Given the description of an element on the screen output the (x, y) to click on. 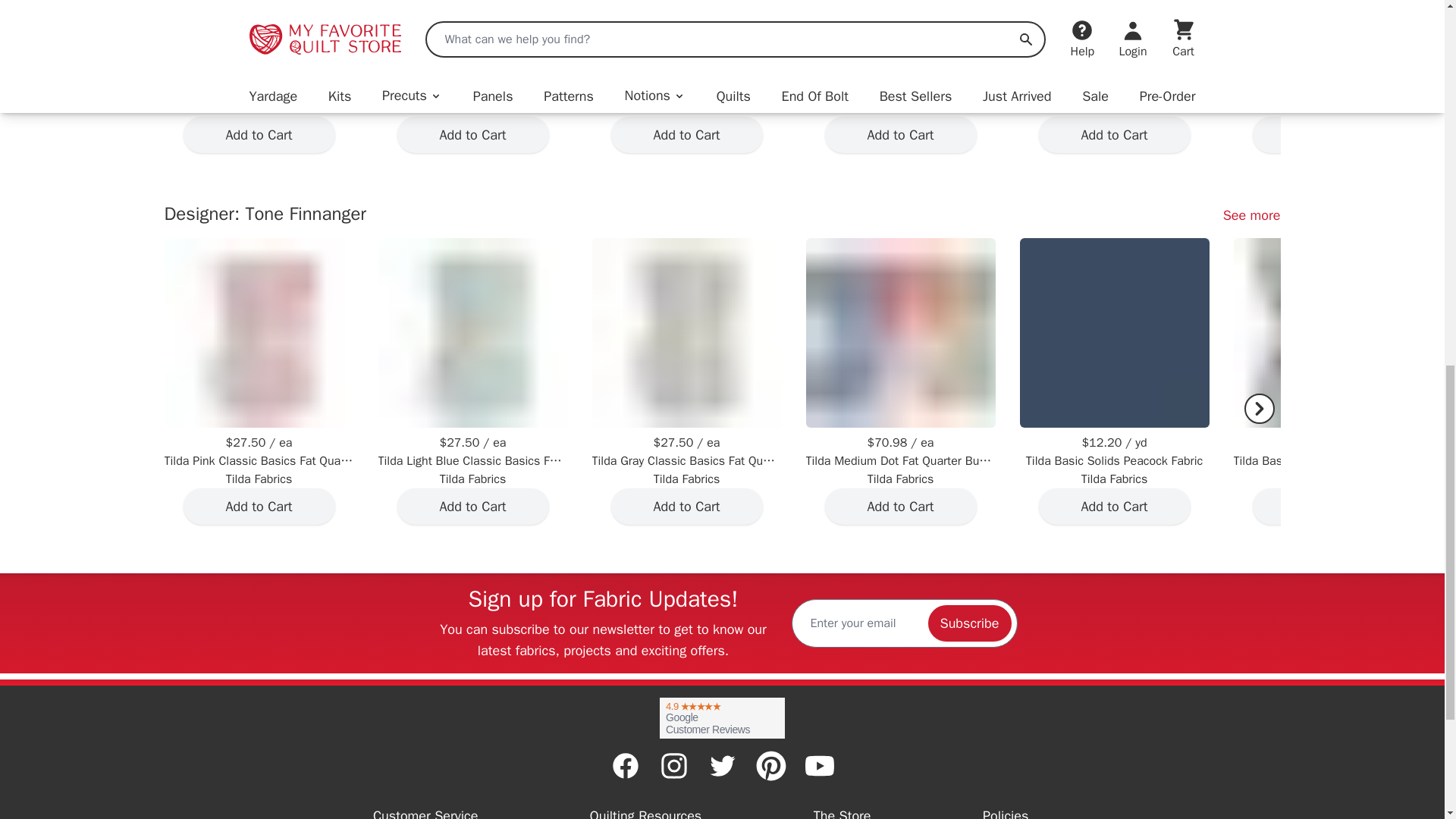
Add to Cart (1115, 135)
Add to Cart (900, 135)
Add to Cart (258, 135)
Add to Cart (686, 135)
Add to Cart (472, 135)
